Given the description of an element on the screen output the (x, y) to click on. 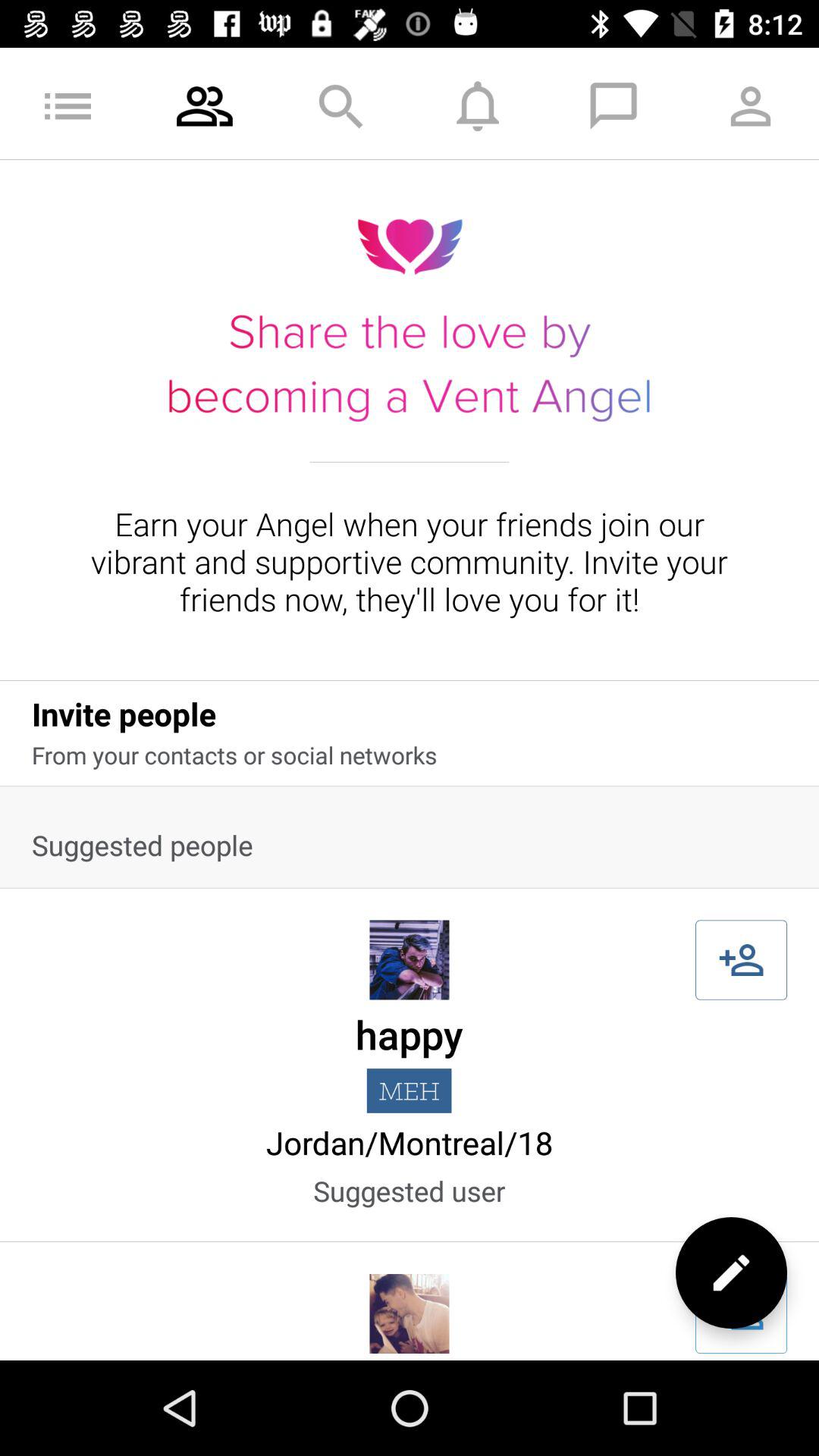
add person (741, 959)
